Given the description of an element on the screen output the (x, y) to click on. 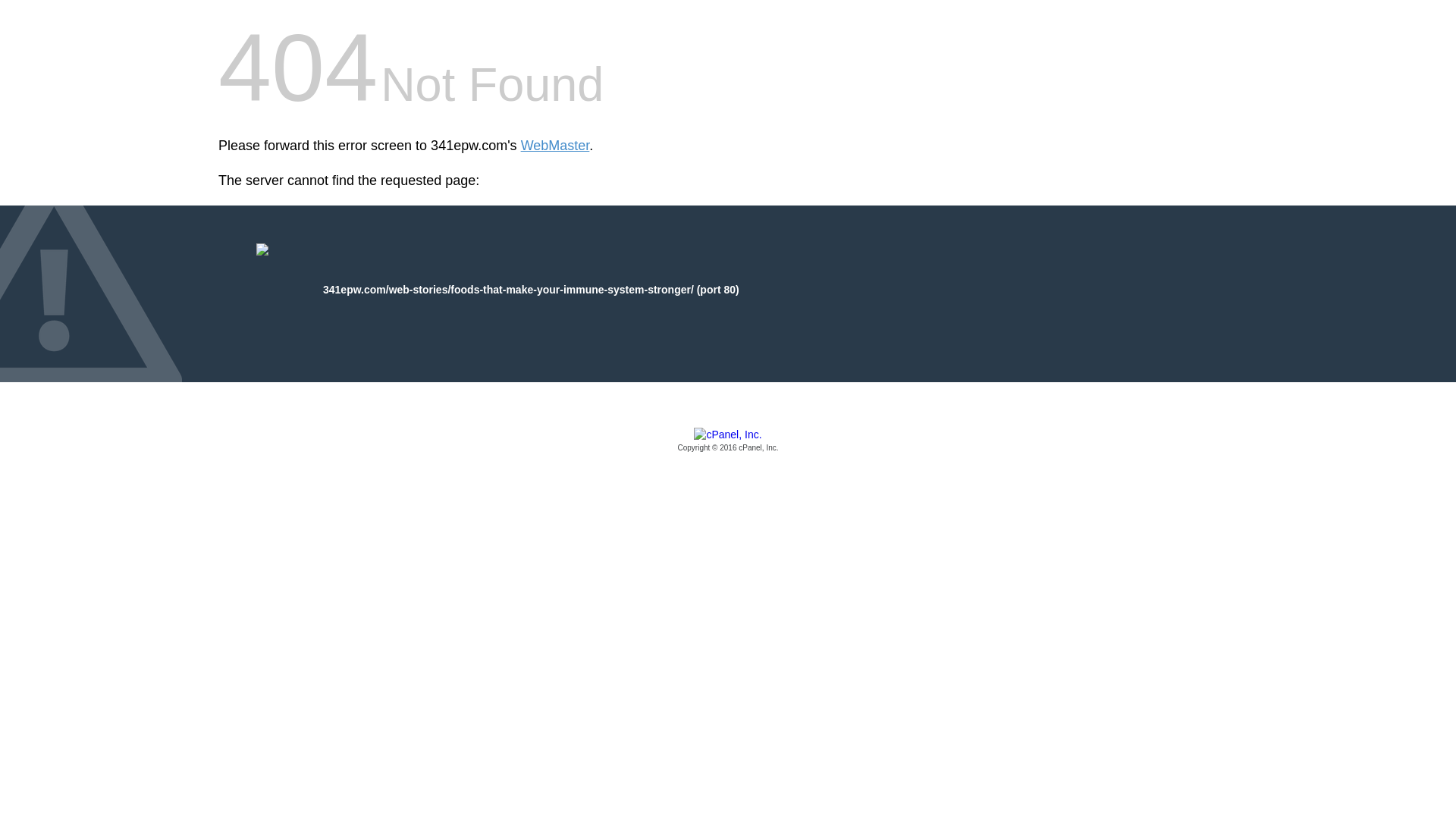
cPanel, Inc. (727, 440)
WebMaster (555, 145)
